Given the description of an element on the screen output the (x, y) to click on. 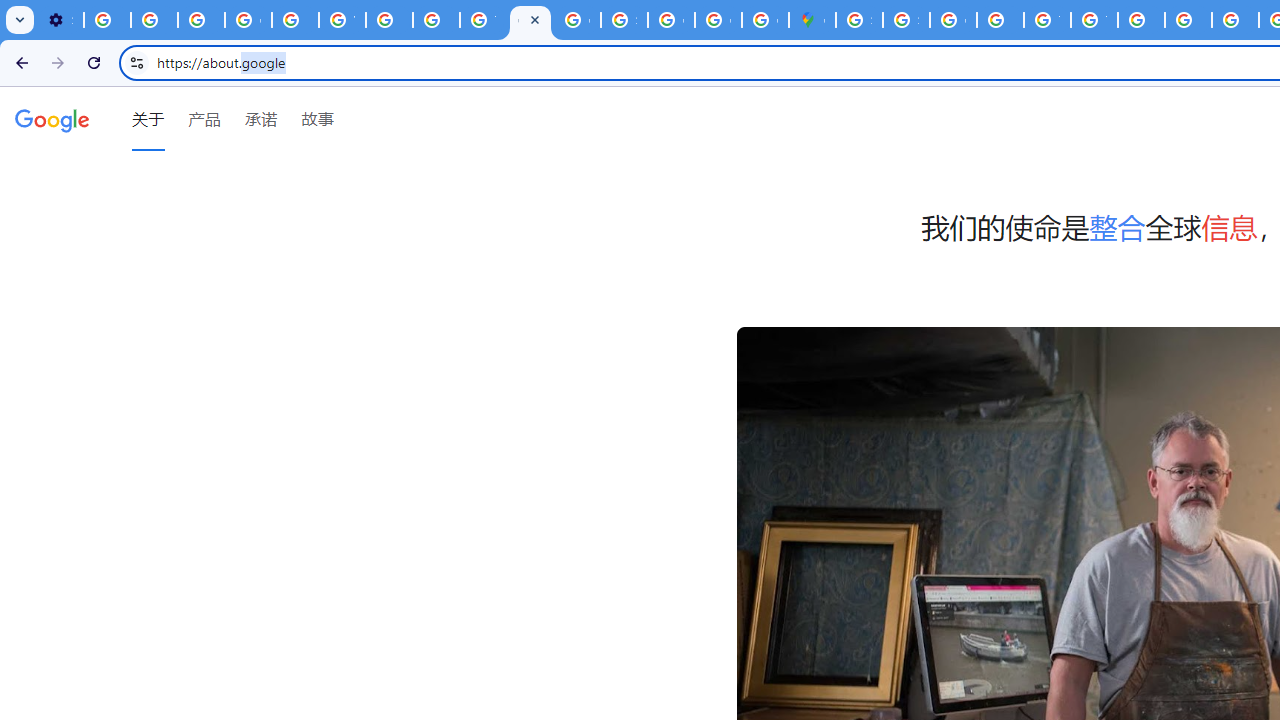
Terms and Conditions (1047, 20)
YouTube (342, 20)
Privacy Help Center - Policies Help (294, 20)
Sign in - Google Accounts (859, 20)
Terms and Conditions (1094, 20)
